Given the description of an element on the screen output the (x, y) to click on. 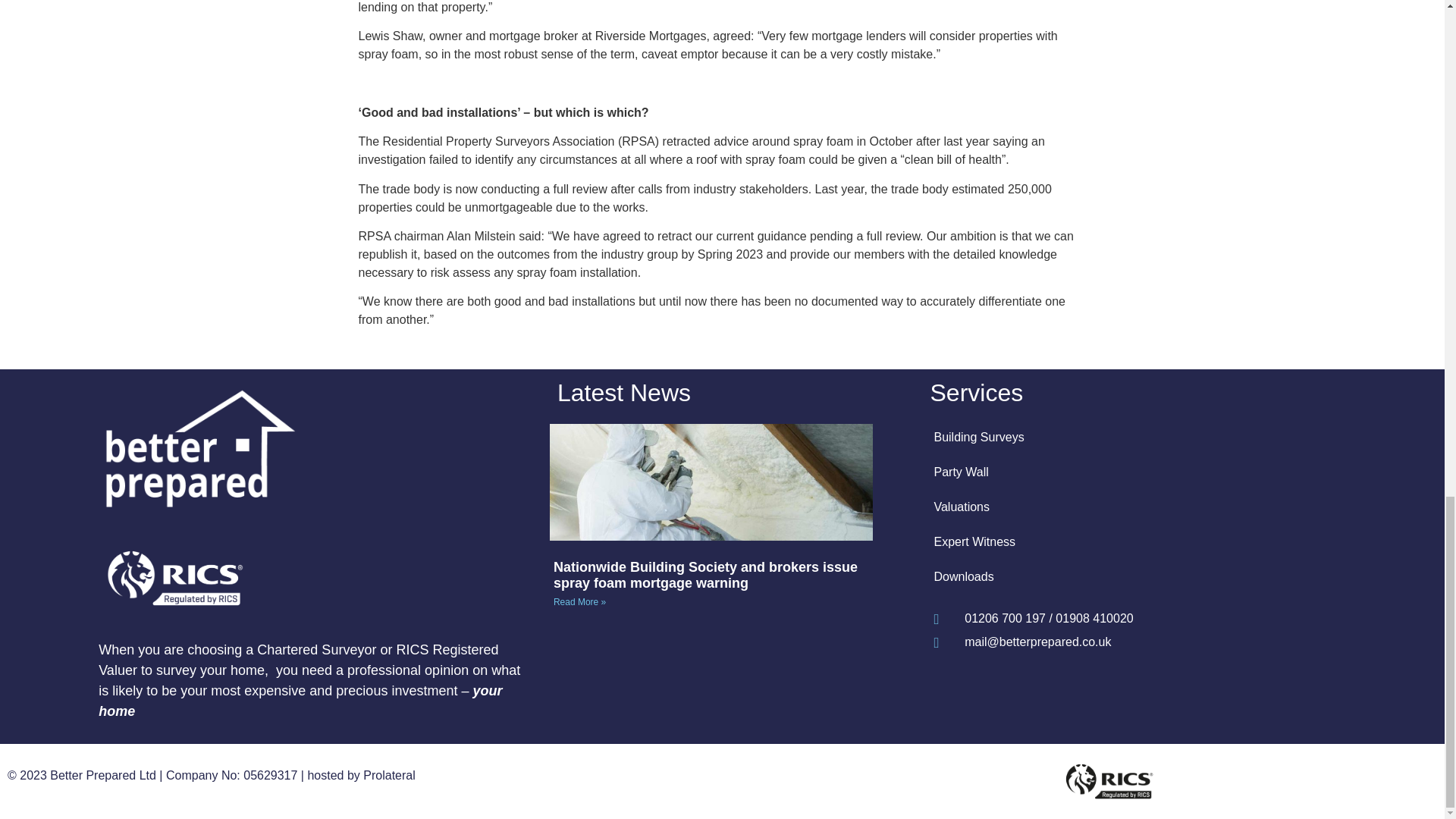
Prolateral (388, 775)
Downloads (1131, 576)
Expert Witness (1131, 541)
Valuations (1131, 506)
Building Surveys (1131, 437)
Party Wall (1131, 472)
